Given the description of an element on the screen output the (x, y) to click on. 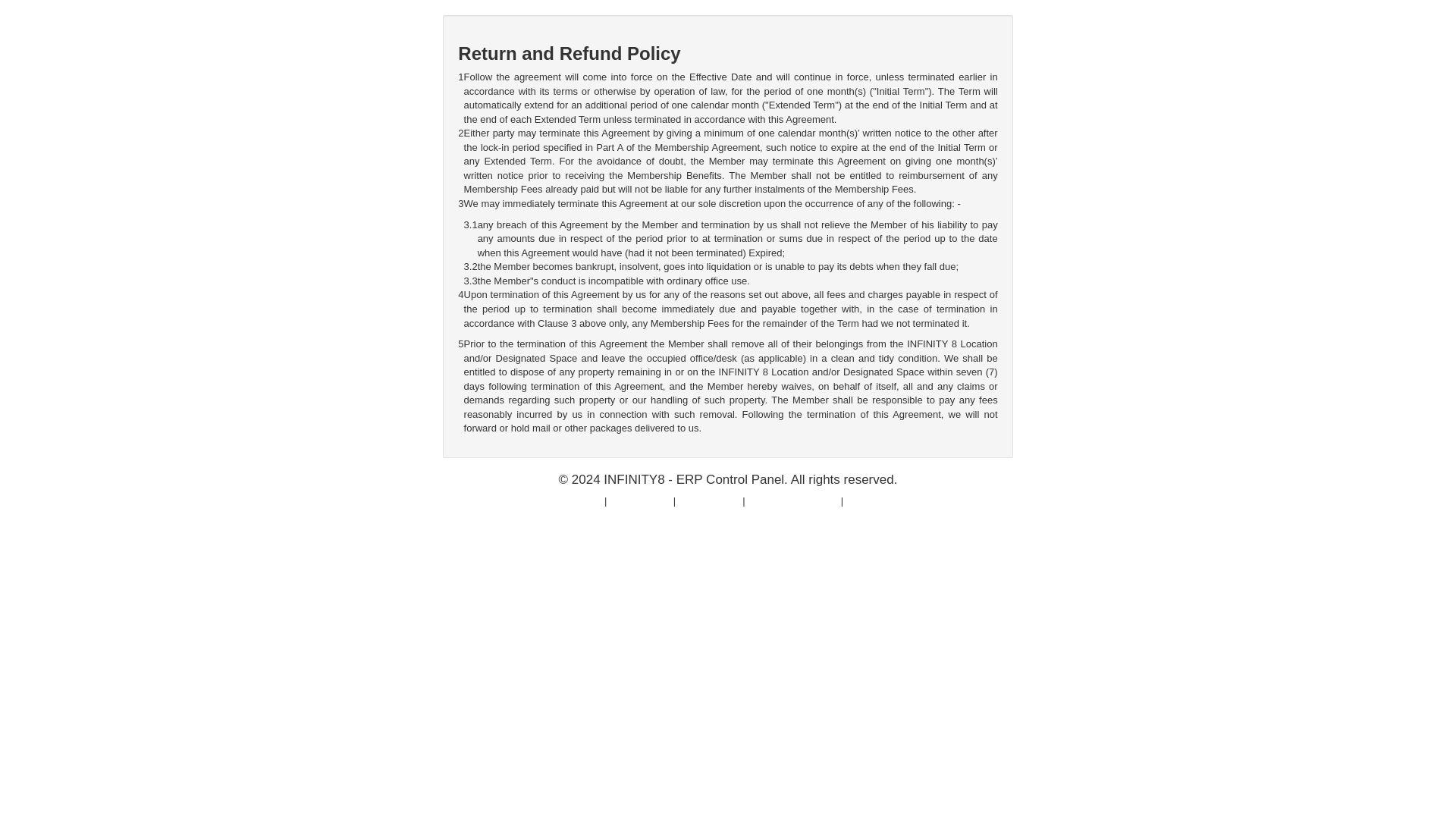
Terms and Condition (793, 500)
Contact Us (870, 500)
About Us (580, 500)
Refund Policy (639, 500)
Privacy Policy (708, 500)
